Given the description of an element on the screen output the (x, y) to click on. 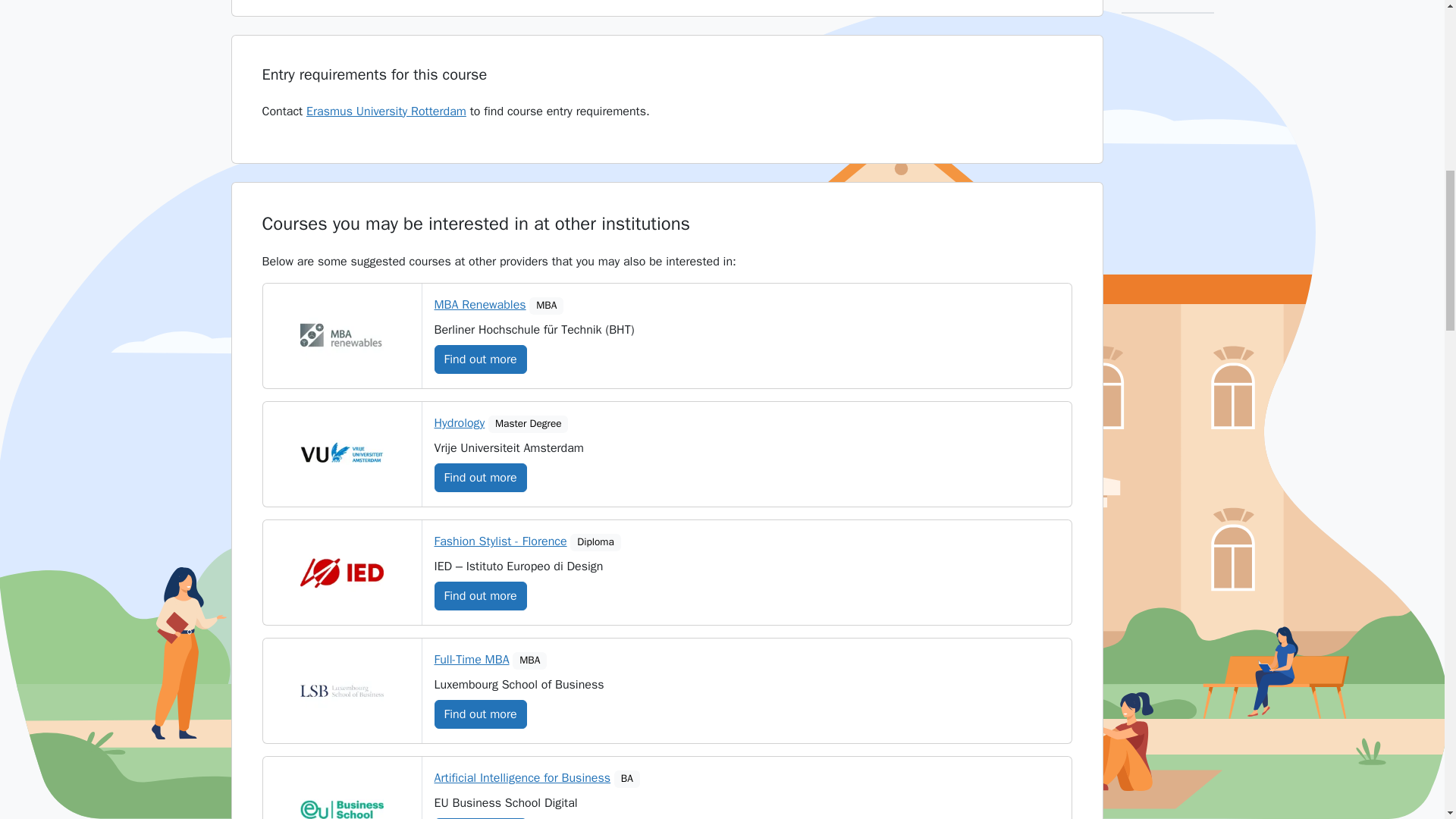
EU Business School Digital (341, 800)
Luxembourg School of Business (341, 691)
Vrije Universiteit Amsterdam (341, 454)
Erasmus University Rotterdam (385, 111)
